Given the description of an element on the screen output the (x, y) to click on. 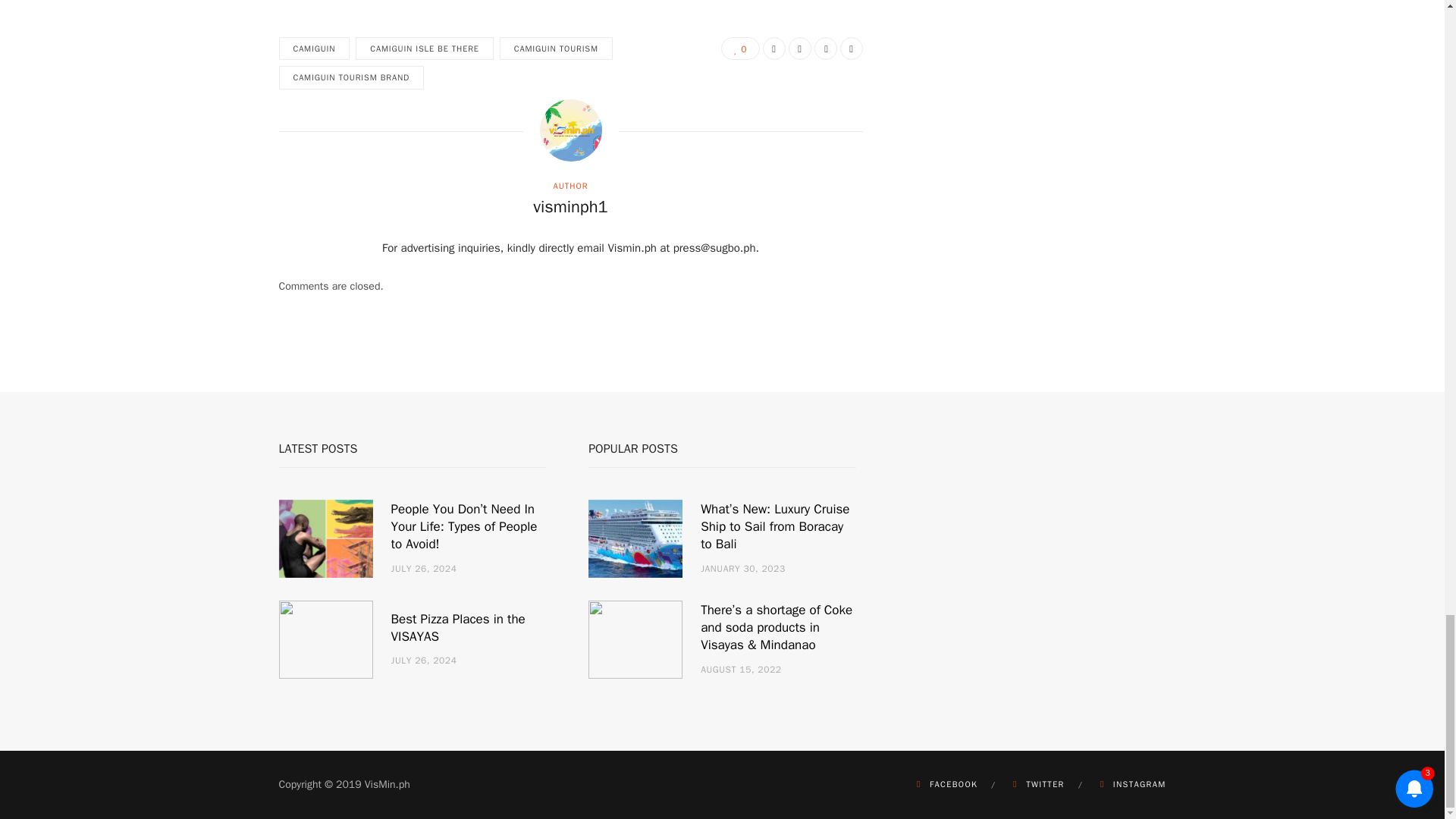
CAMIGUIN (314, 48)
CAMIGUIN TOURISM BRAND (352, 77)
CAMIGUIN ISLE BE THERE (424, 48)
CAMIGUIN TOURISM (555, 48)
0 (740, 47)
visminph1 (569, 207)
